Given the description of an element on the screen output the (x, y) to click on. 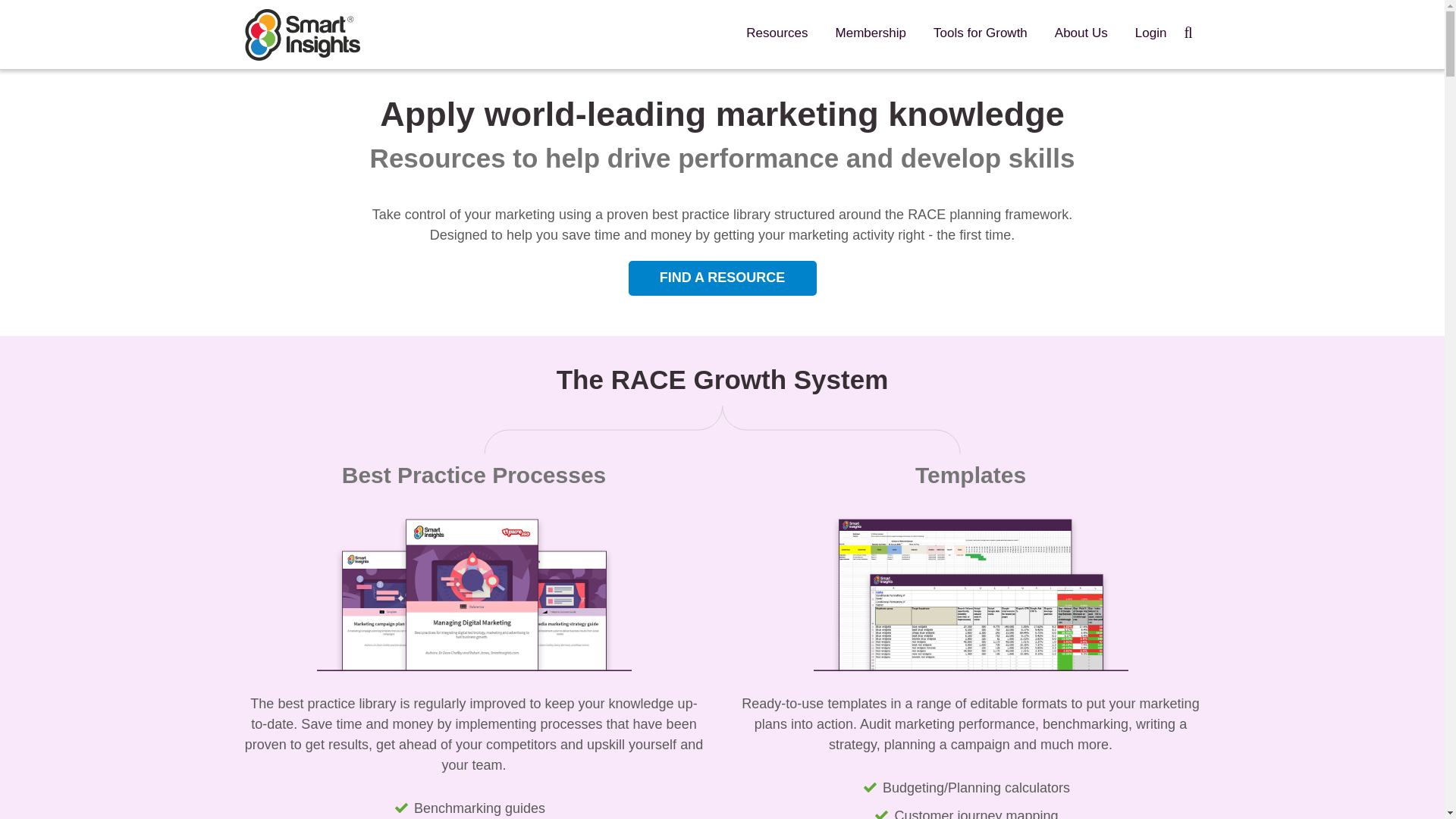
Membership (871, 32)
About Us (1081, 32)
Resources (776, 32)
Login (1150, 32)
Tools for Growth (979, 32)
